Given the description of an element on the screen output the (x, y) to click on. 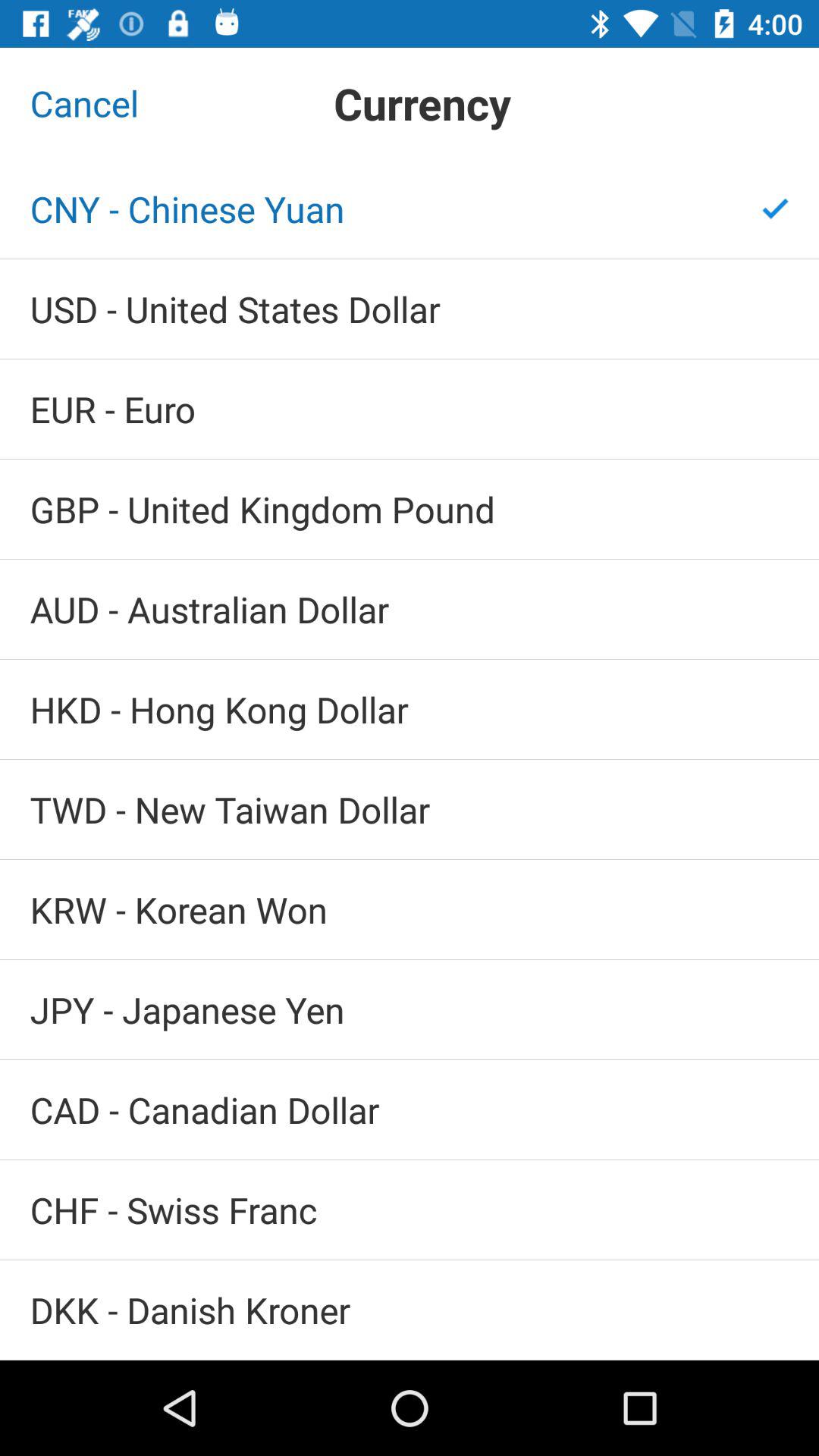
open icon below the usd united states item (409, 408)
